Given the description of an element on the screen output the (x, y) to click on. 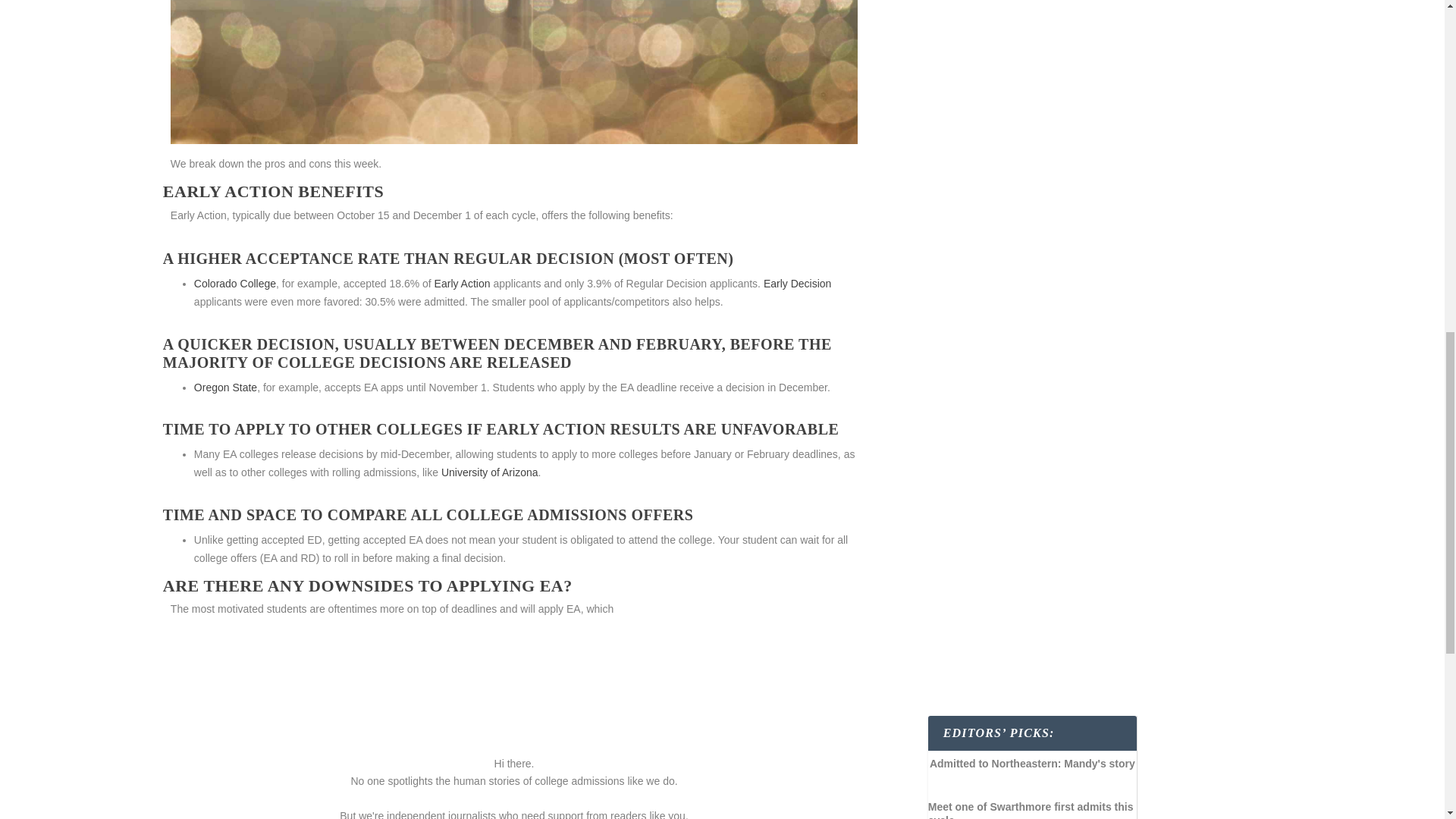
University of Arizona (489, 472)
Meet one of Swarthmore first admits this cycle (1032, 806)
Early Action (461, 283)
Admitted to Northeastern: Mandy's story (1032, 768)
Colorado College (234, 283)
Oregon State (225, 387)
Early Decision (796, 283)
